Given the description of an element on the screen output the (x, y) to click on. 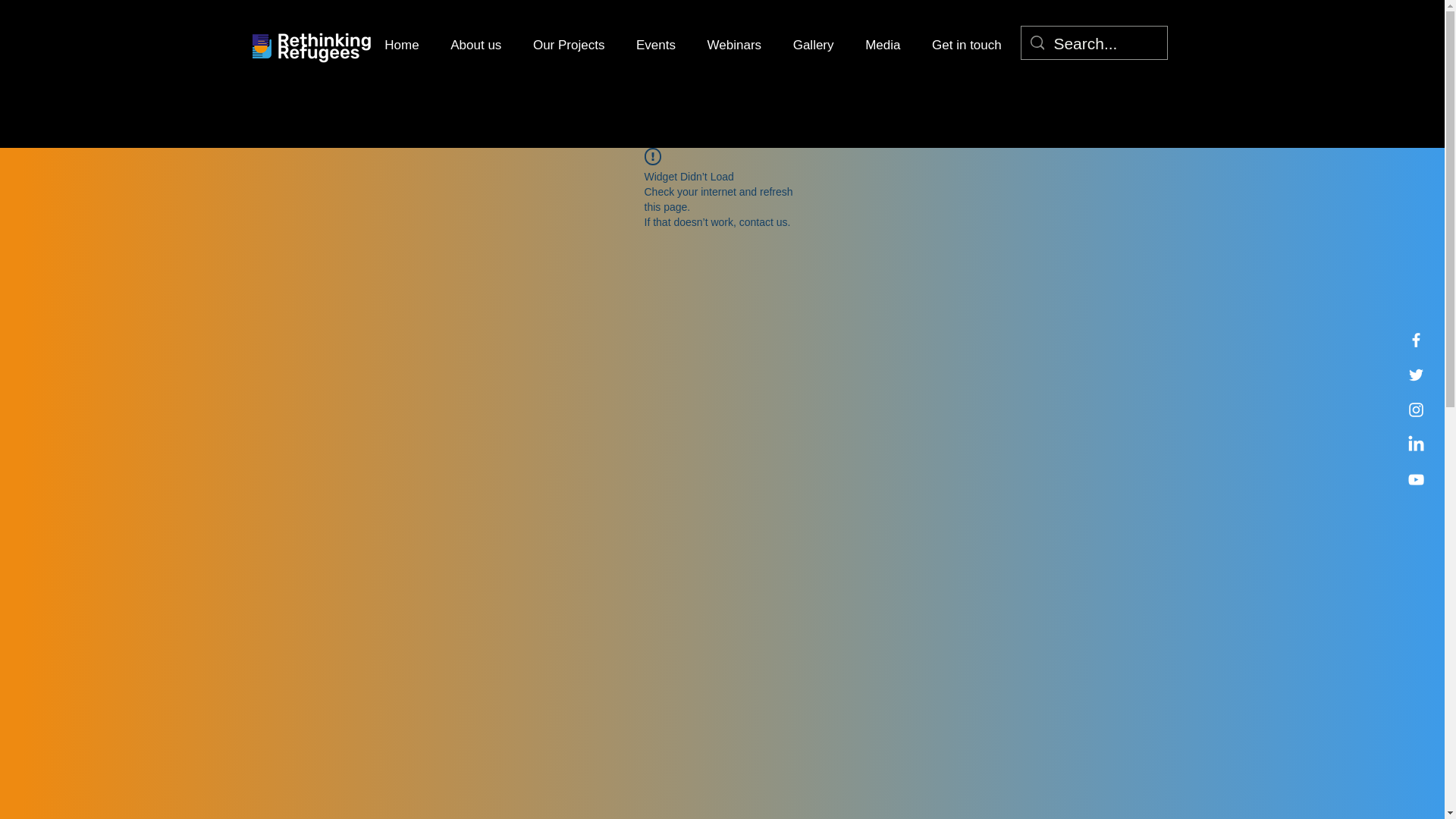
Events (655, 45)
Get in touch (965, 45)
Webinars (734, 45)
Home (400, 45)
Media (881, 45)
Our Projects (568, 45)
Gallery (812, 45)
! (653, 156)
About us (475, 45)
